Given the description of an element on the screen output the (x, y) to click on. 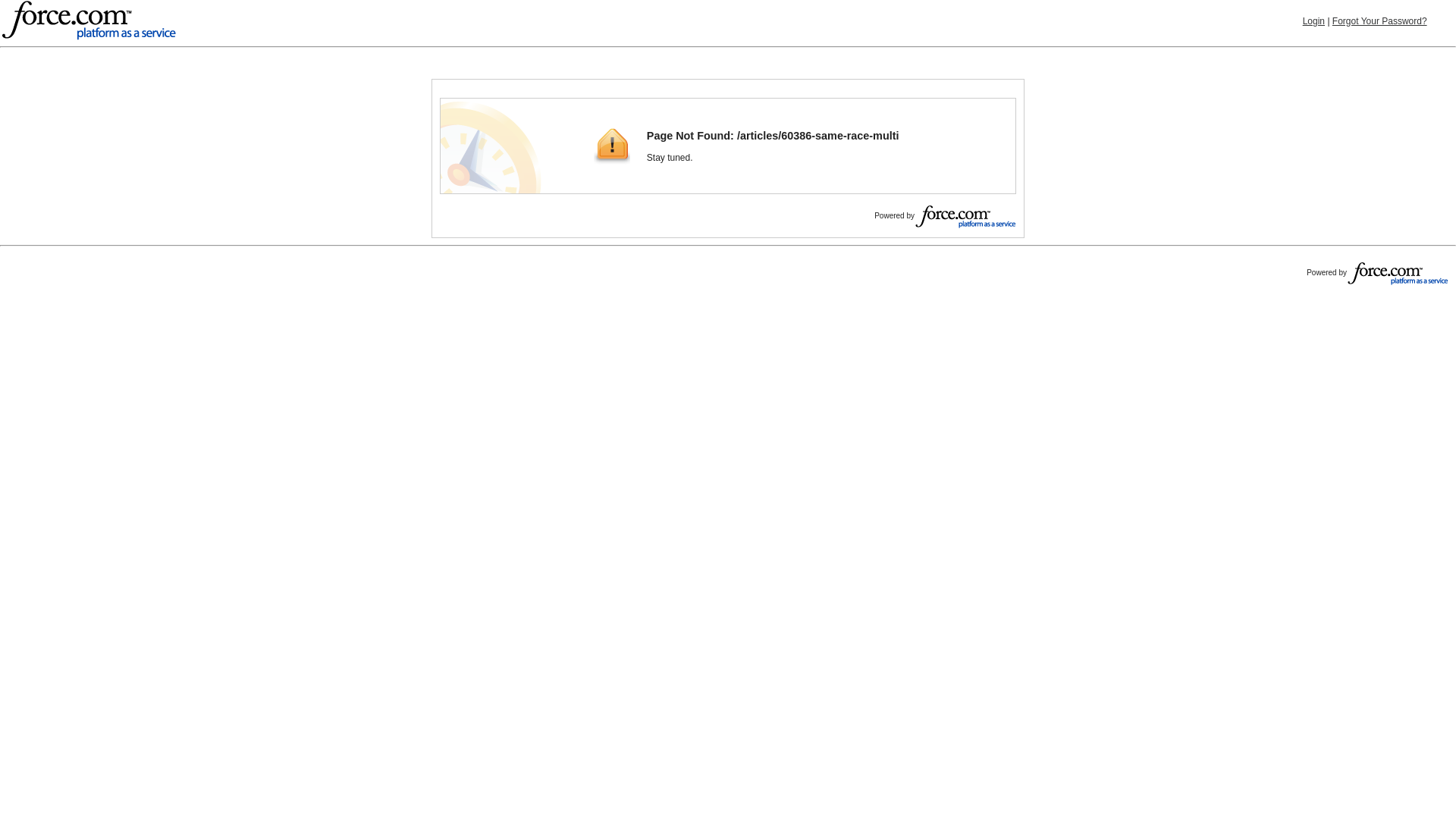
Login Element type: text (1313, 20)
Forgot Your Password? Element type: text (1379, 20)
Salesforce Element type: hover (88, 20)
